Given the description of an element on the screen output the (x, y) to click on. 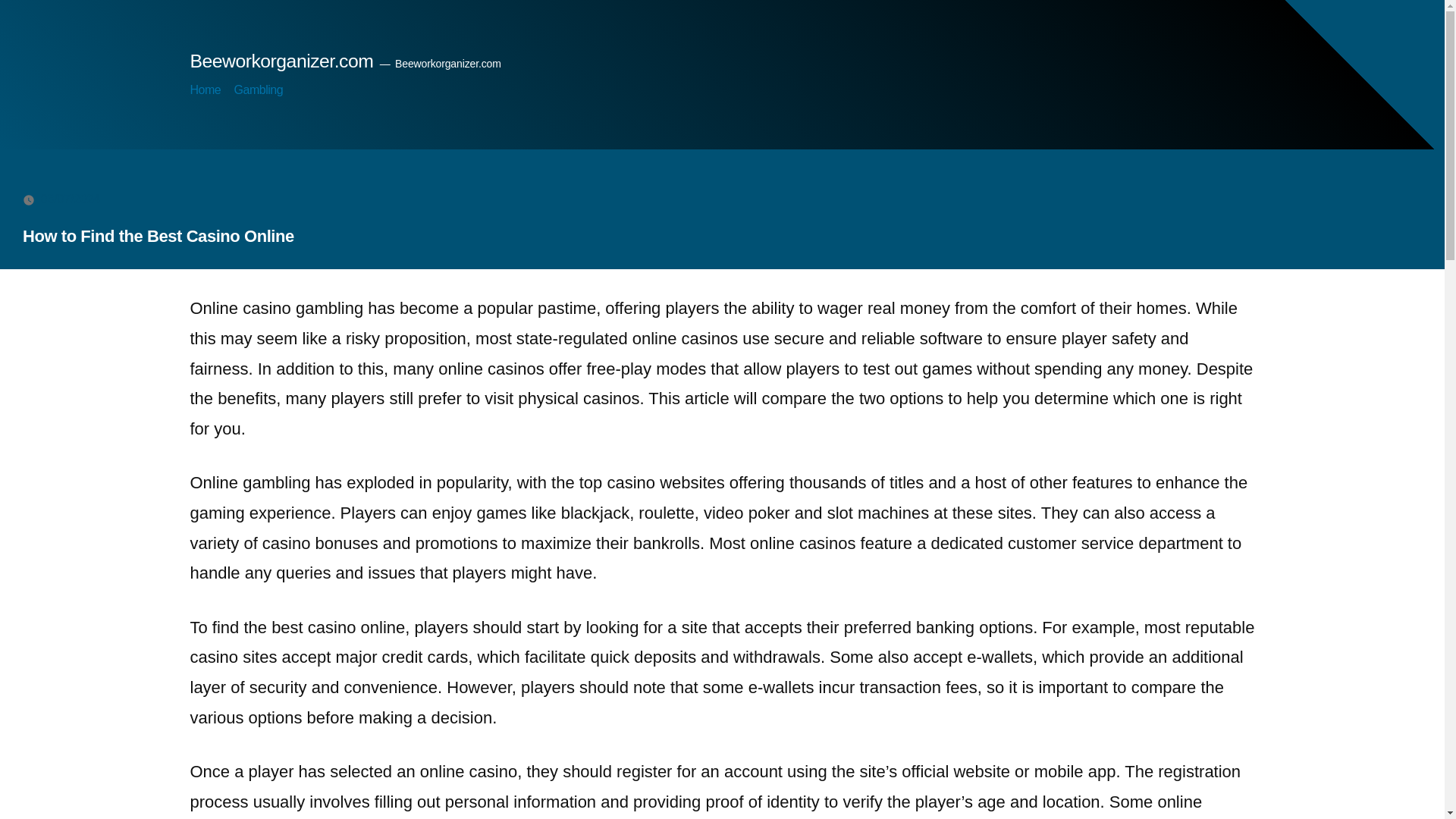
Beeworkorganizer.com (280, 60)
Home (205, 89)
Gambling (258, 89)
